Given the description of an element on the screen output the (x, y) to click on. 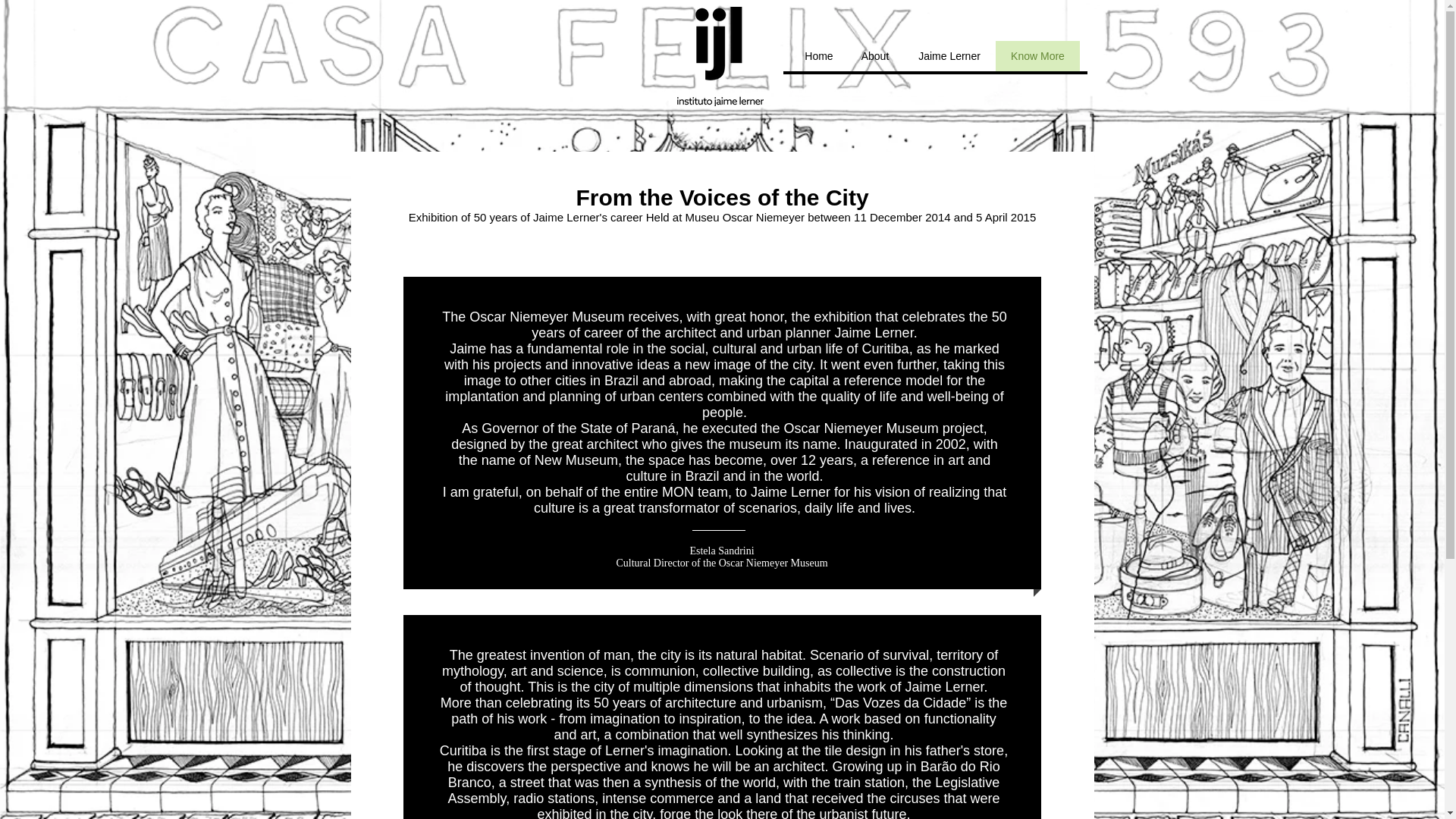
Jaime Lerner (948, 55)
Home (817, 55)
Know More (1036, 55)
About (873, 55)
